Given the description of an element on the screen output the (x, y) to click on. 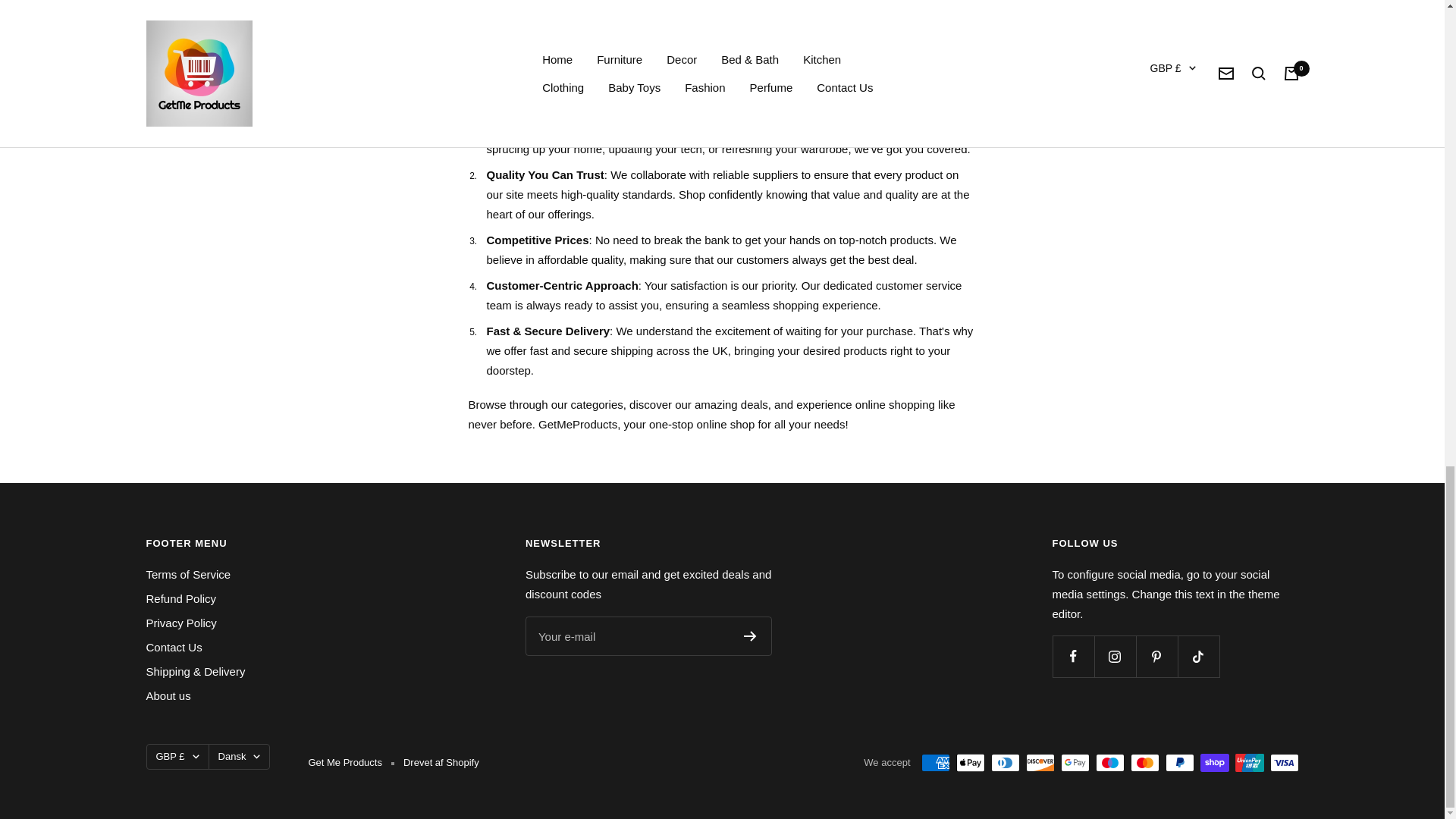
ISK (1157, 191)
KRW (1157, 241)
MDL (1157, 266)
JPY (1157, 216)
HUF (1157, 116)
Register (750, 635)
EUR (1157, 41)
MKD (1157, 291)
CZK (1157, 0)
HKD (1157, 91)
INR (1157, 166)
GBP (1157, 66)
DKK (1157, 16)
ILS (1157, 141)
MYR (1157, 316)
